Given the description of an element on the screen output the (x, y) to click on. 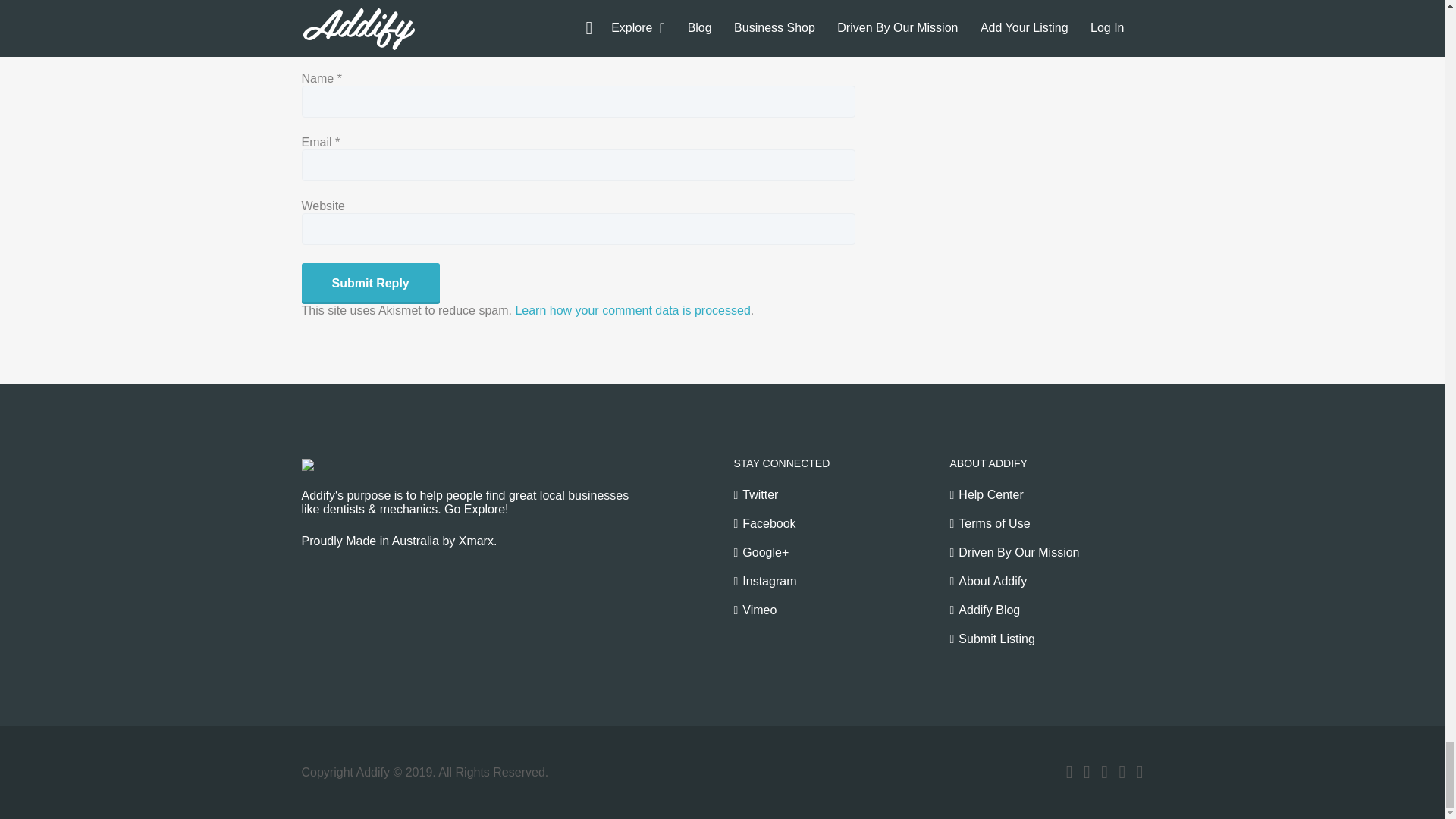
Submit Reply (370, 282)
